Given the description of an element on the screen output the (x, y) to click on. 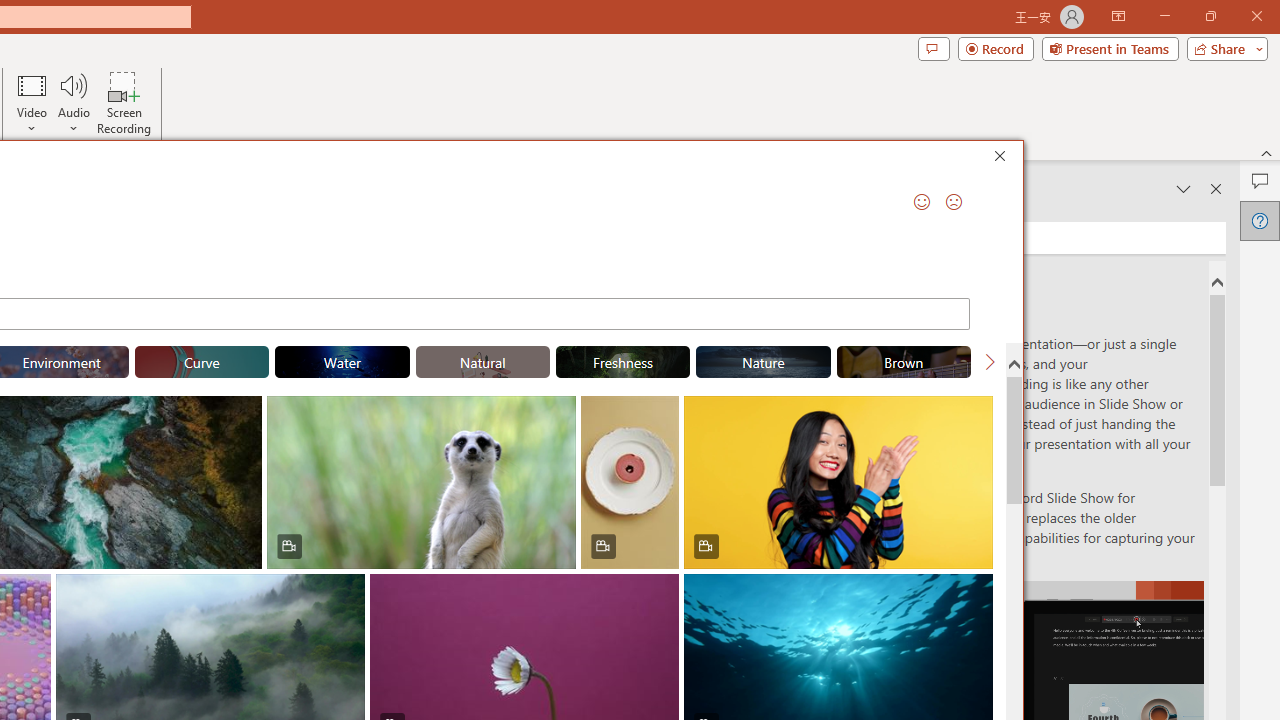
"Water" Stock Videos. (342, 362)
